Given the description of an element on the screen output the (x, y) to click on. 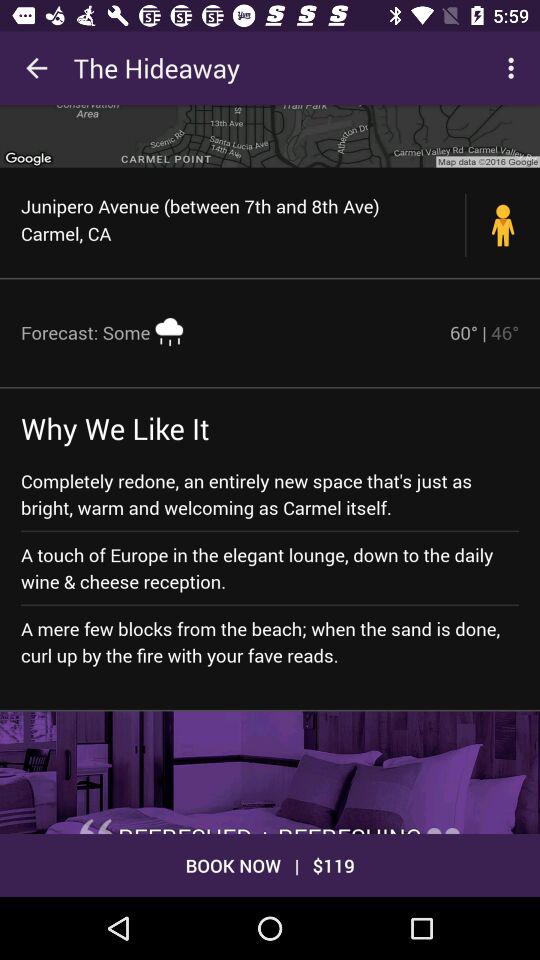
press the item below the why we like icon (270, 494)
